Given the description of an element on the screen output the (x, y) to click on. 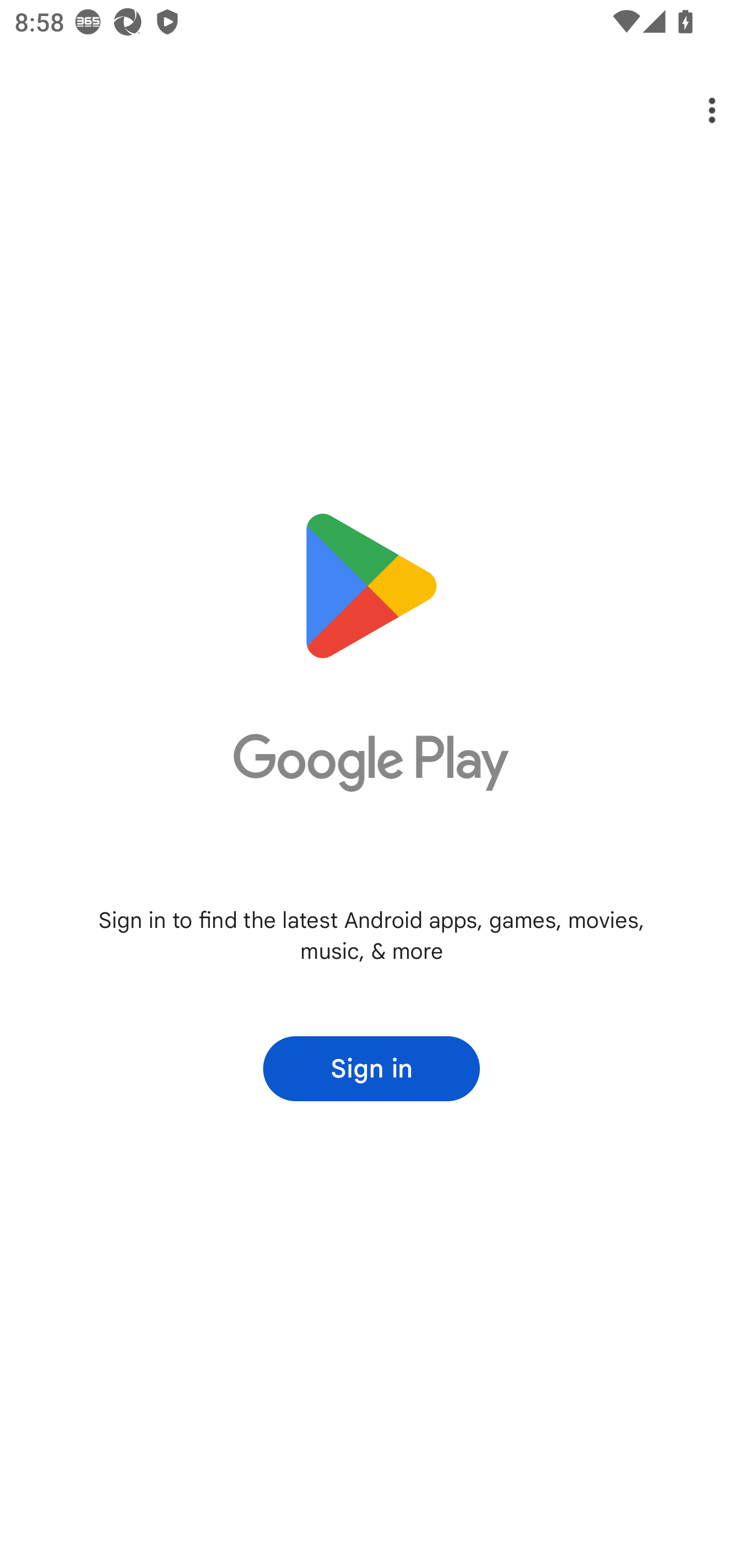
Options (697, 110)
Sign in (371, 1068)
